Given the description of an element on the screen output the (x, y) to click on. 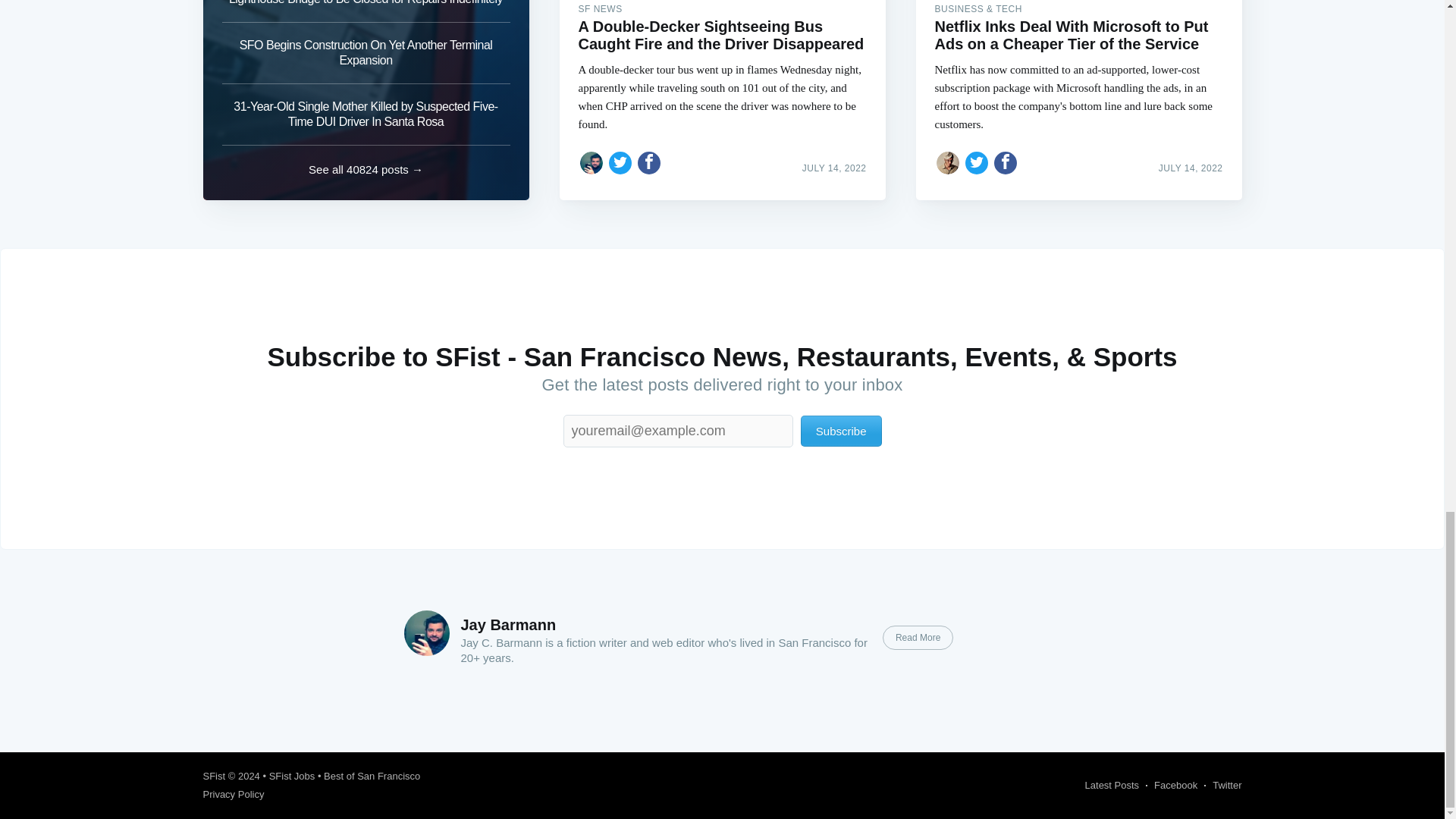
Share on Twitter (620, 162)
Share on Facebook (1004, 162)
Subscribe (841, 430)
SFO Begins Construction On Yet Another Terminal Expansion (365, 53)
Share on Twitter (976, 162)
Share on Facebook (649, 162)
